Given the description of an element on the screen output the (x, y) to click on. 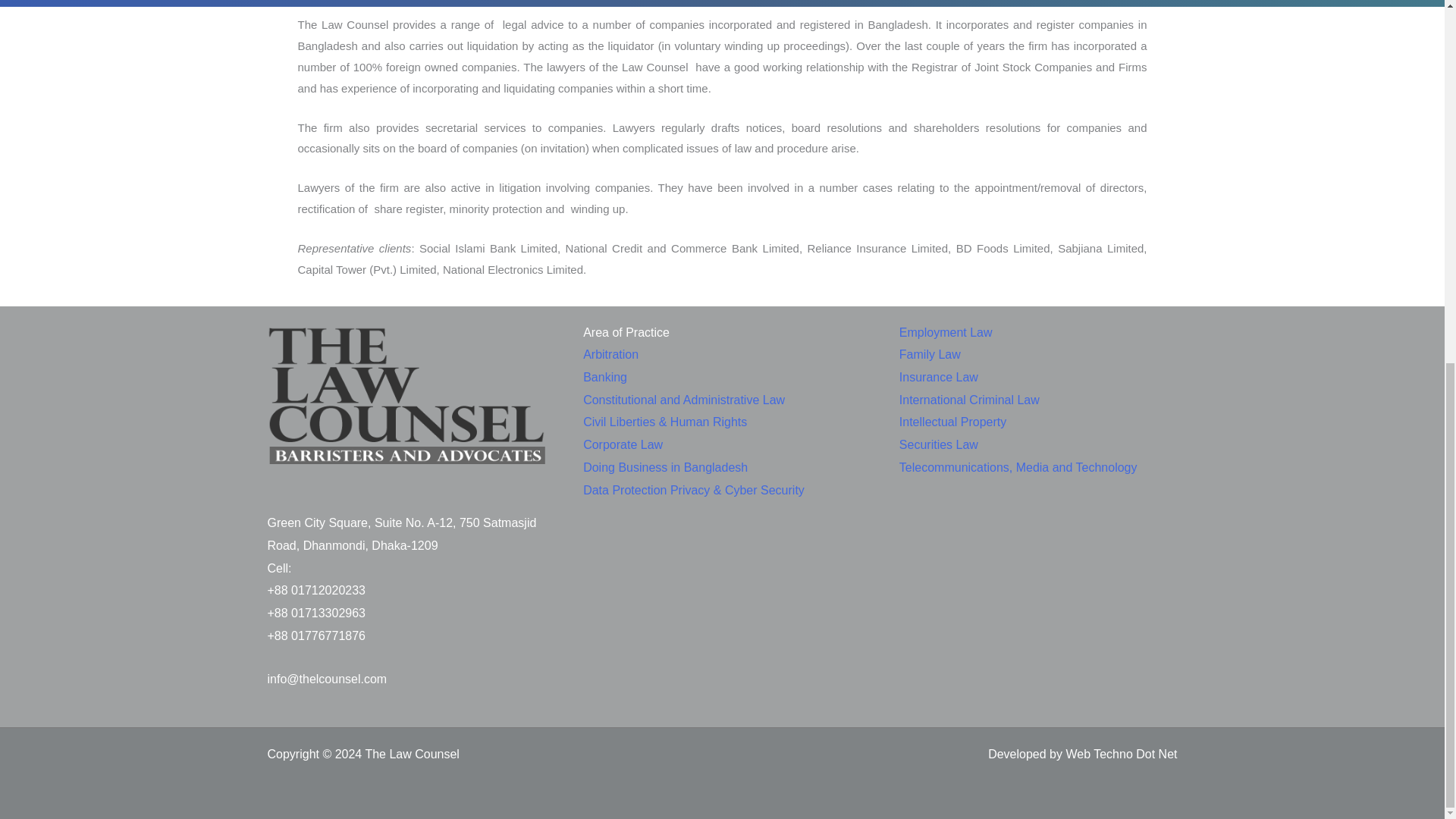
Banking (605, 377)
Corporate Law (622, 444)
Constitutional and Administrative Law (683, 399)
Doing Business in Bangladesh (665, 467)
Arbitration (611, 354)
